Given the description of an element on the screen output the (x, y) to click on. 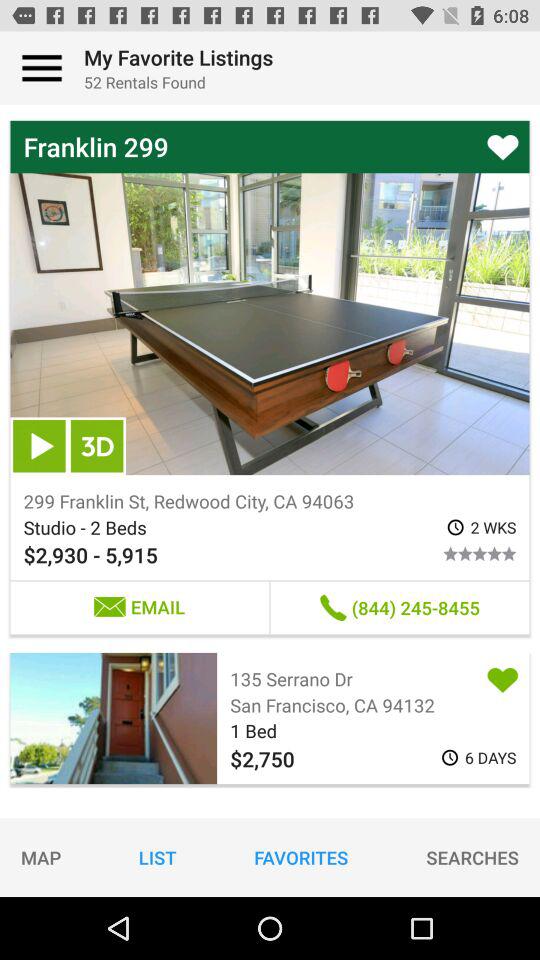
press for main menu options (41, 68)
